Given the description of an element on the screen output the (x, y) to click on. 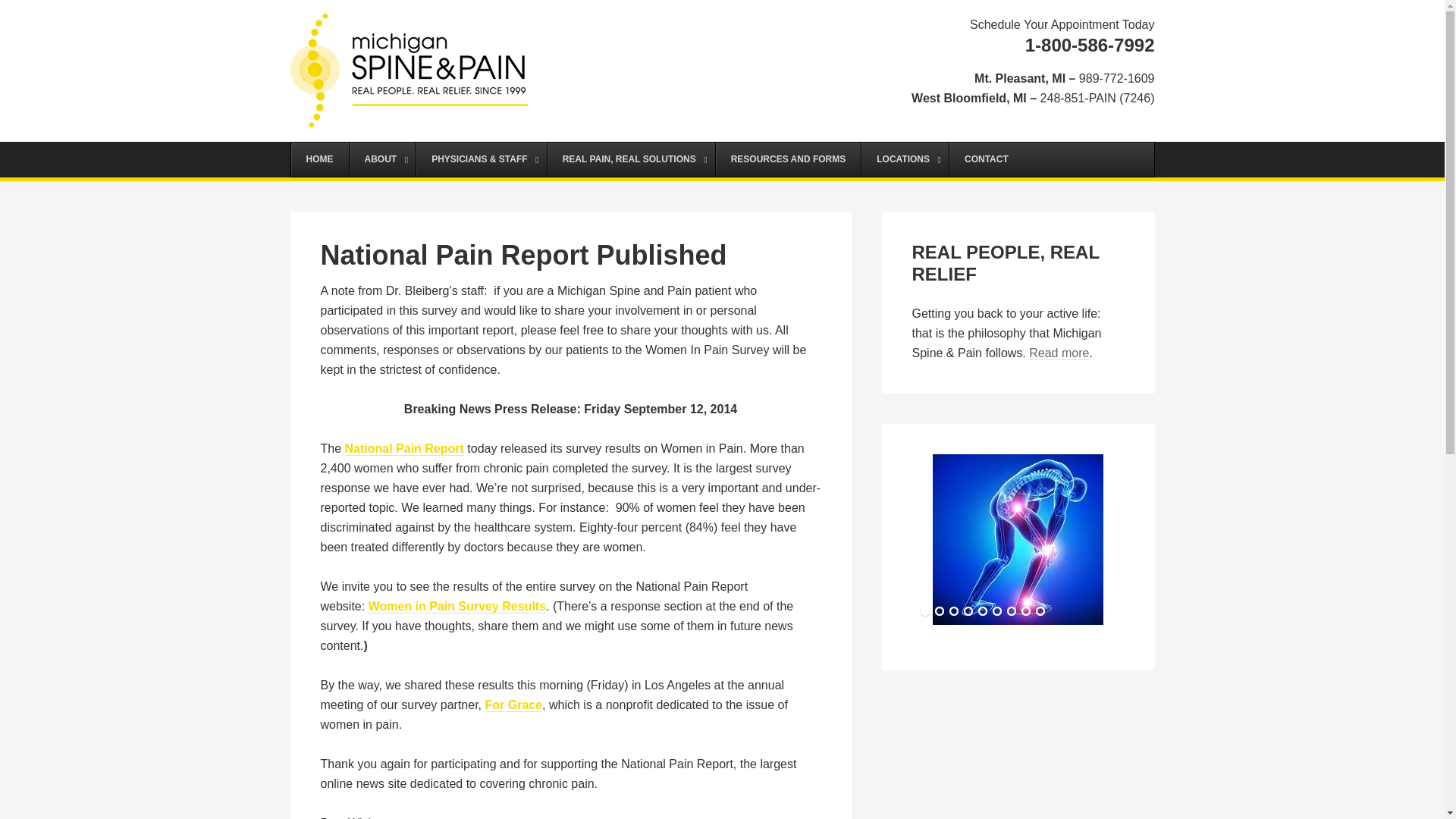
REAL PAIN, REAL SOLUTIONS (630, 159)
ABOUT (382, 159)
Real Pain, Real Solutions (1059, 353)
CONTACT (986, 159)
HOME (320, 159)
RESOURCES AND FORMS (787, 159)
LOCATIONS (904, 159)
National Pain Report (404, 448)
